Given the description of an element on the screen output the (x, y) to click on. 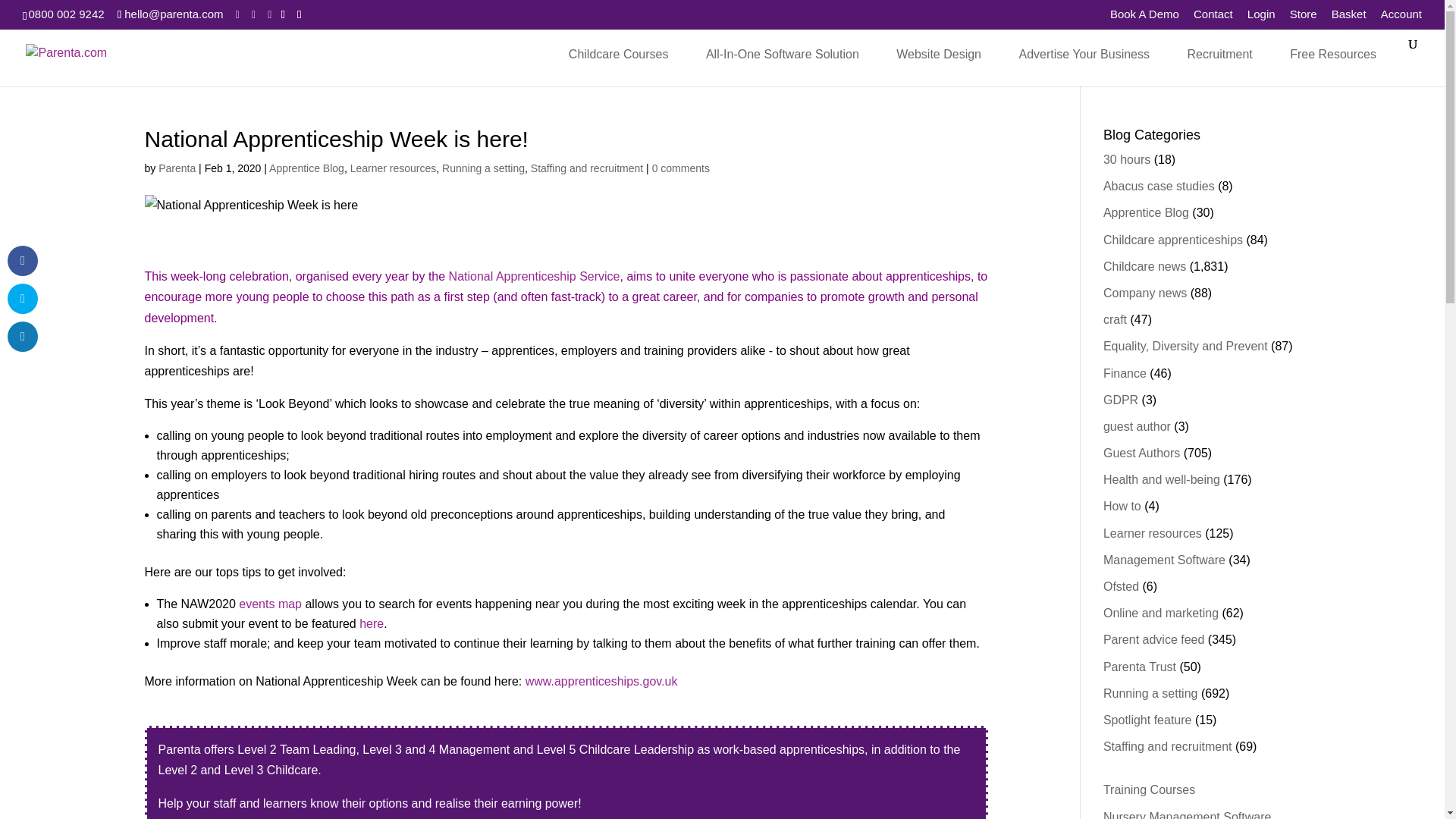
Advertise Your Business (1083, 54)
Store (1303, 17)
Account (1401, 17)
Login (1261, 17)
Website Design (937, 54)
All-In-One Software Solution (782, 54)
Posts by Parenta (176, 168)
Childcare Courses (618, 54)
Contact (1213, 17)
Book A Demo (1144, 17)
